Given the description of an element on the screen output the (x, y) to click on. 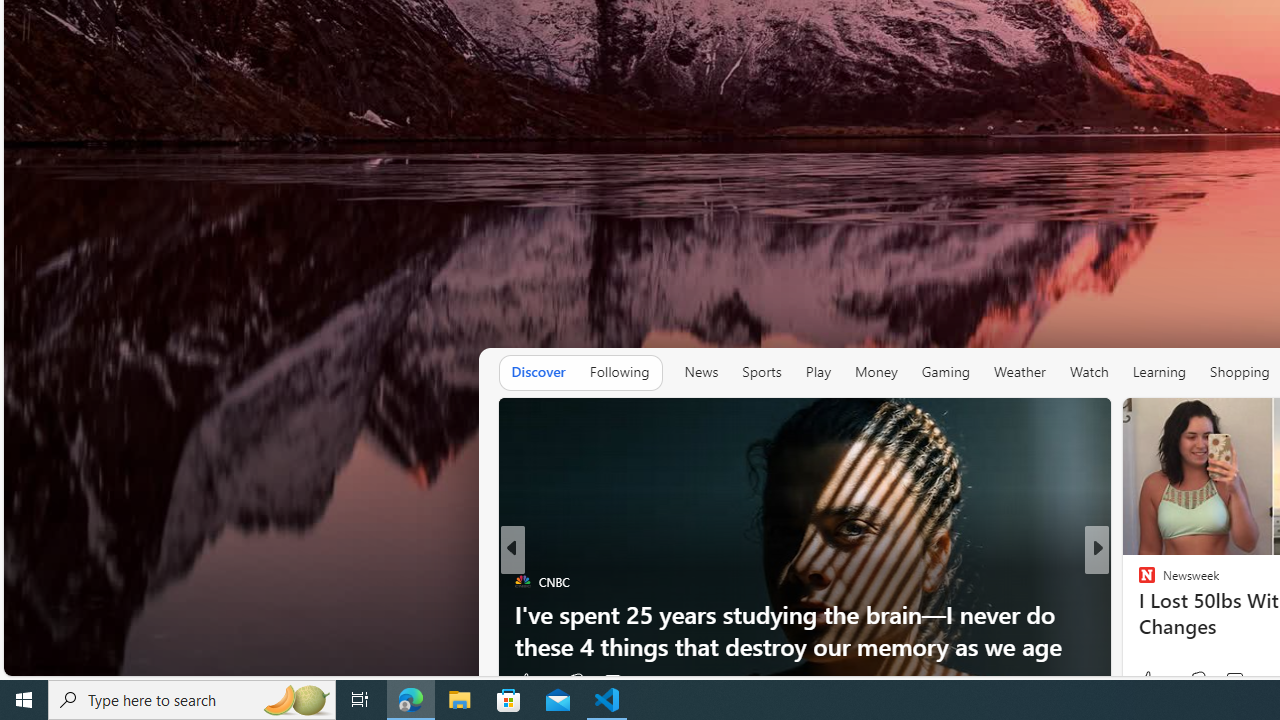
View comments 9 Comment (1234, 681)
save70.com (1161, 581)
3 Like (1145, 681)
17 Like (1149, 681)
Yumophile (1138, 614)
View comments 97 Comment (612, 681)
51 Like (1149, 681)
View comments 38 Comment (1244, 681)
